Given the description of an element on the screen output the (x, y) to click on. 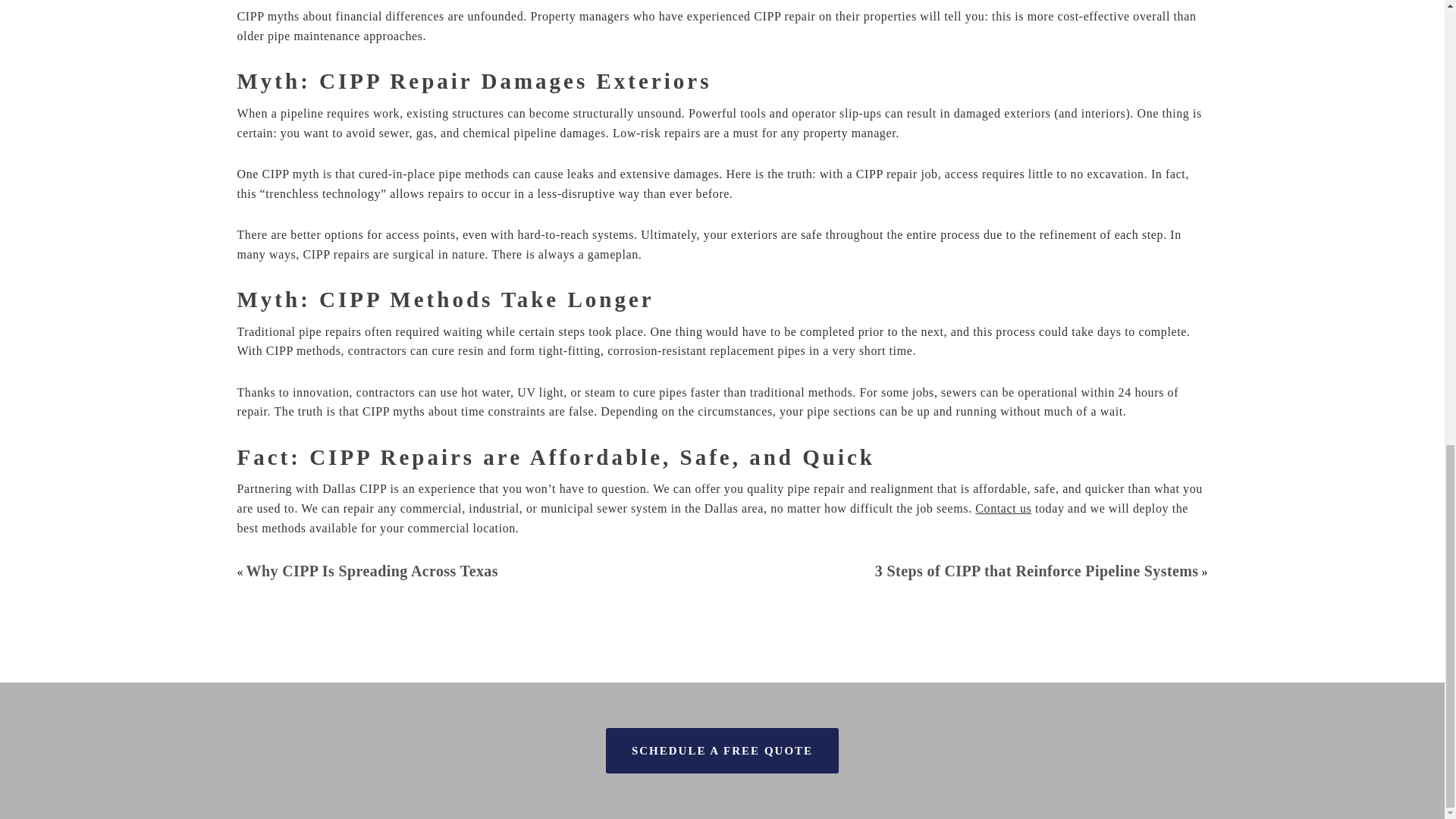
Why CIPP Is Spreading Across Texas (371, 570)
SCHEDULE A FREE QUOTE (721, 750)
Contact us (1002, 508)
3 Steps of CIPP that Reinforce Pipeline Systems (1036, 570)
